Given the description of an element on the screen output the (x, y) to click on. 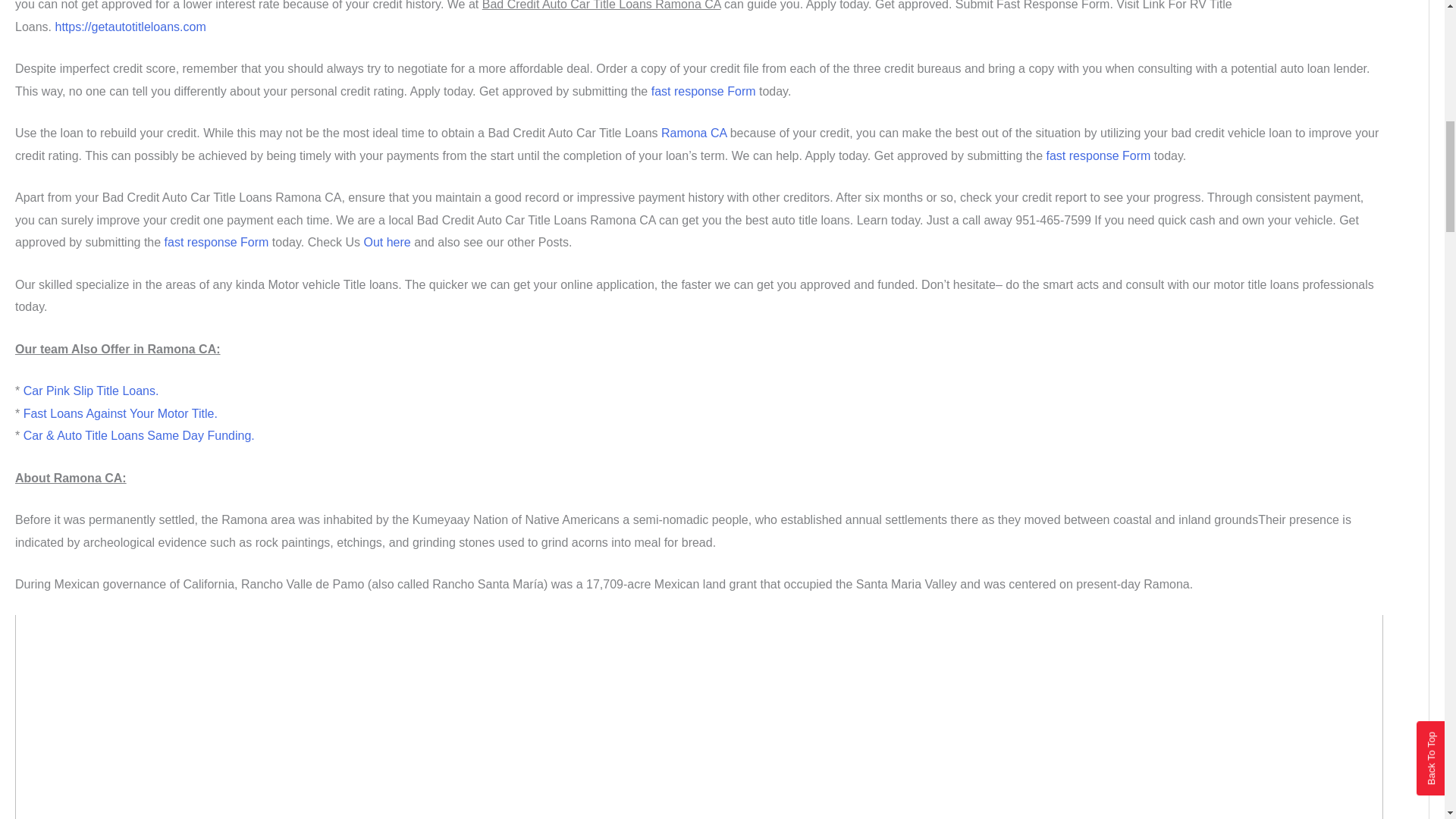
fast response Form (216, 241)
Fast Loans Against Your Motor Title. (118, 413)
fast response Form (702, 91)
fast response Form (1098, 155)
Ramona CA (693, 132)
Car Pink Slip Title Loans. (90, 390)
Out here (386, 241)
